Given the description of an element on the screen output the (x, y) to click on. 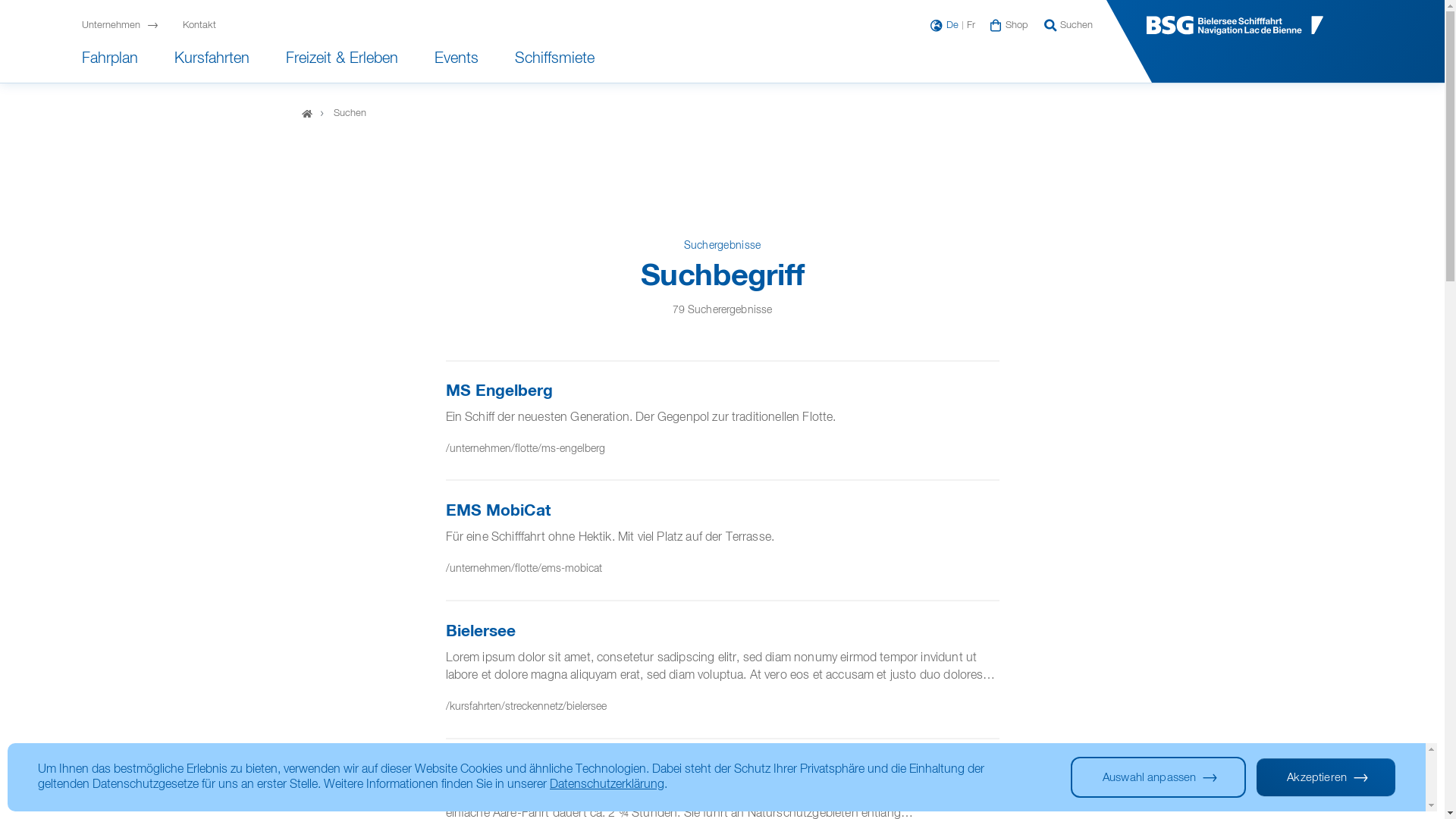
MS Engelberg Element type: text (498, 391)
Suchen Element type: text (1068, 26)
Auswahl anpassen Element type: text (1158, 777)
Unternehmen Element type: text (125, 26)
/unternehmen/flotte/ems-mobicat Element type: text (523, 568)
Fr Element type: text (968, 25)
Events Element type: text (456, 62)
De Element type: text (952, 25)
Akzeptieren Element type: text (1325, 777)
Home Element type: hover (306, 113)
EMS MobiCat Element type: text (497, 511)
/unternehmen/flotte/ms-engelberg Element type: text (525, 448)
Shop Element type: text (1015, 26)
/kursfahrten/streckennetz/bielersee Element type: text (525, 706)
Freizeit & Erleben Element type: text (341, 62)
Schiffsmiete Element type: text (554, 62)
Fahrplan Element type: text (109, 62)
Kursfahrten Element type: text (211, 62)
Kontakt Element type: text (199, 26)
Bielersee Element type: text (480, 632)
Aare Element type: text (462, 770)
